Given the description of an element on the screen output the (x, y) to click on. 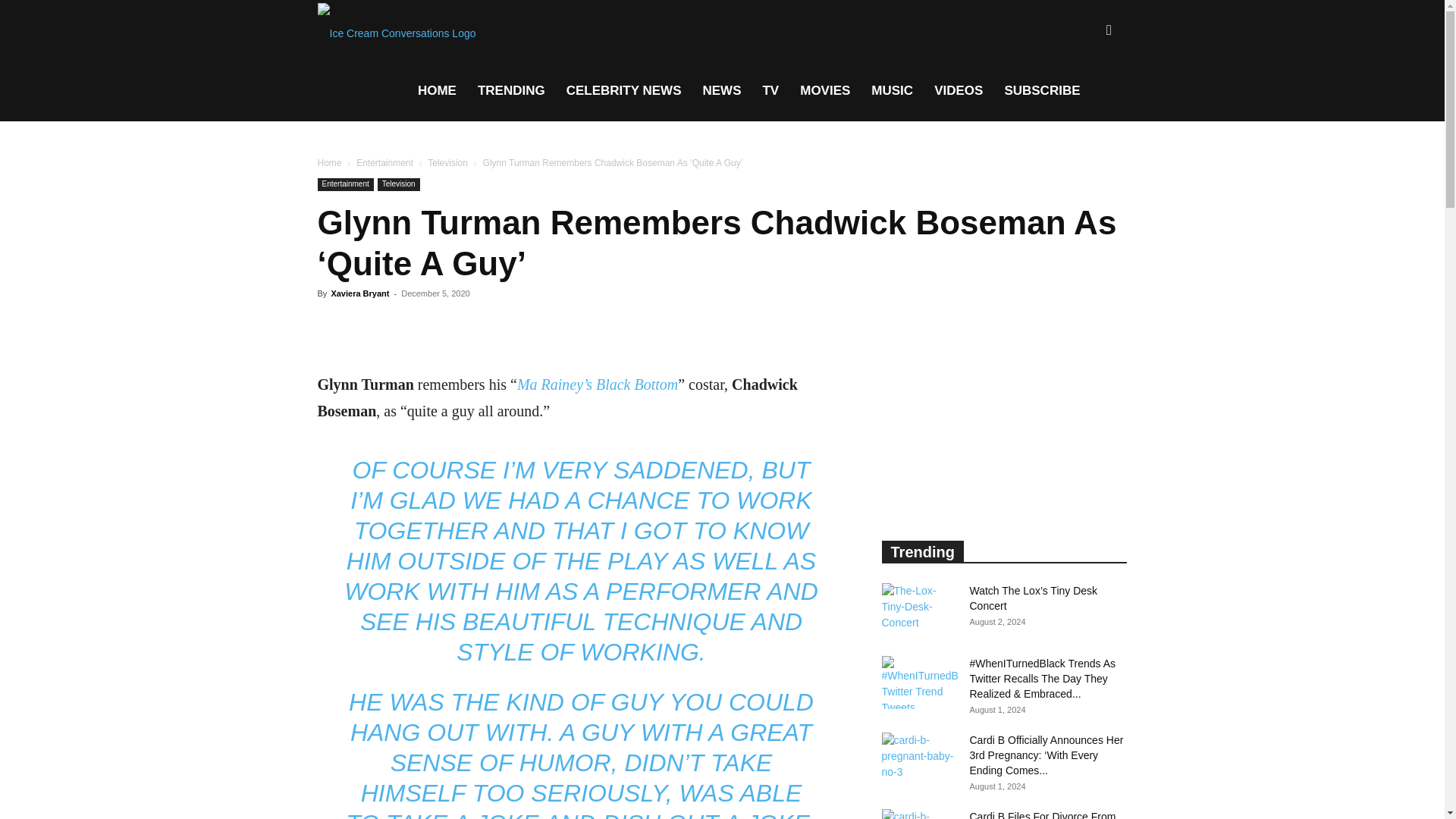
Home (328, 163)
View all posts in Television (447, 163)
CELEBRITY NEWS (624, 90)
VIDEOS (957, 90)
TRENDING (511, 90)
Search (1085, 102)
NEWS (721, 90)
Ice Cream Convos (396, 30)
View all posts in Entertainment (384, 163)
MOVIES (824, 90)
Entertainment (344, 184)
Television (447, 163)
MUSIC (891, 90)
SUBSCRIBE (1041, 90)
HOME (437, 90)
